Given the description of an element on the screen output the (x, y) to click on. 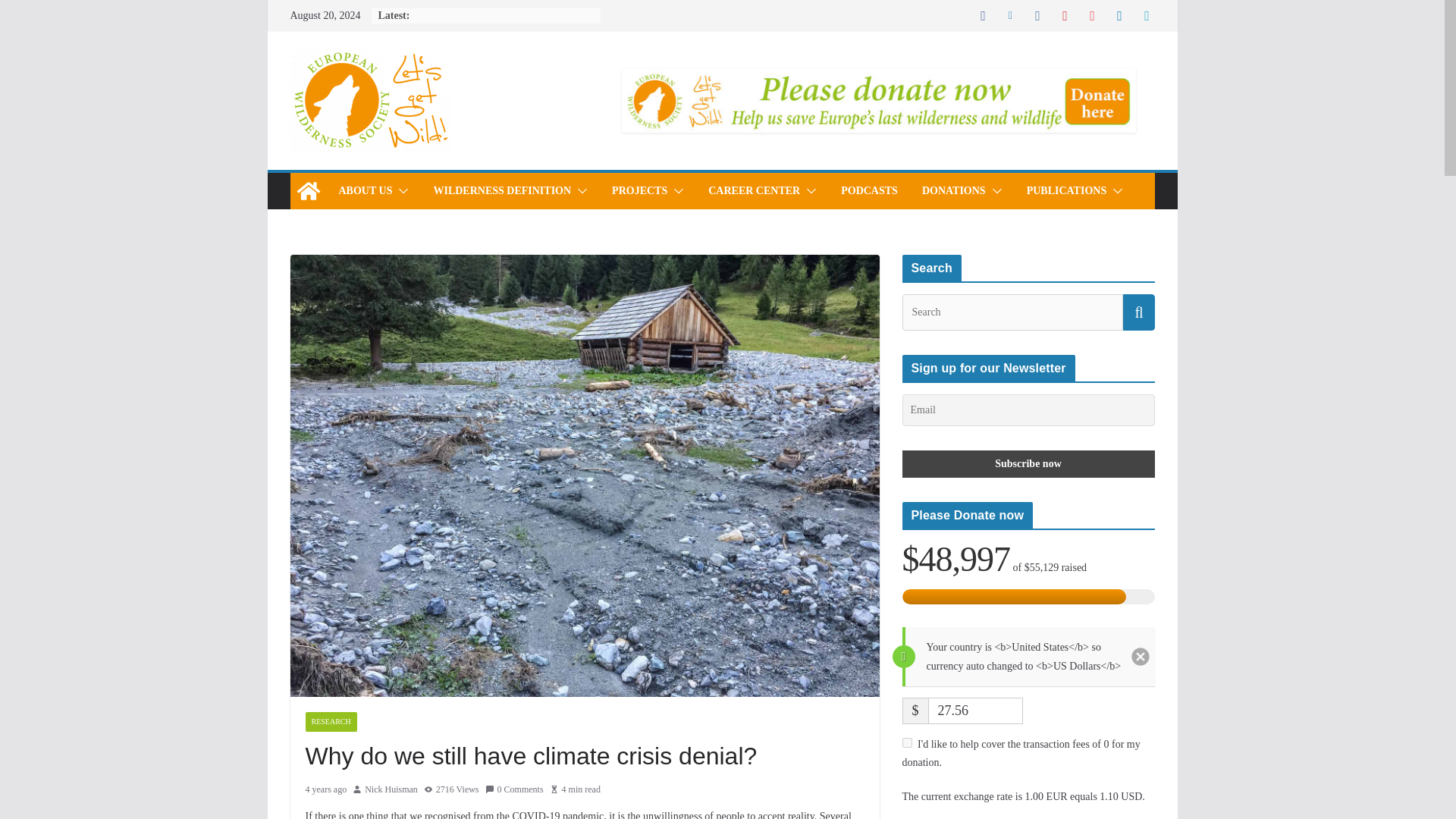
1 (907, 742)
Nick Huisman (391, 790)
27.56 (975, 710)
Subscribe now (1028, 463)
ABOUT US (364, 190)
European Wilderness Society (307, 190)
